Given the description of an element on the screen output the (x, y) to click on. 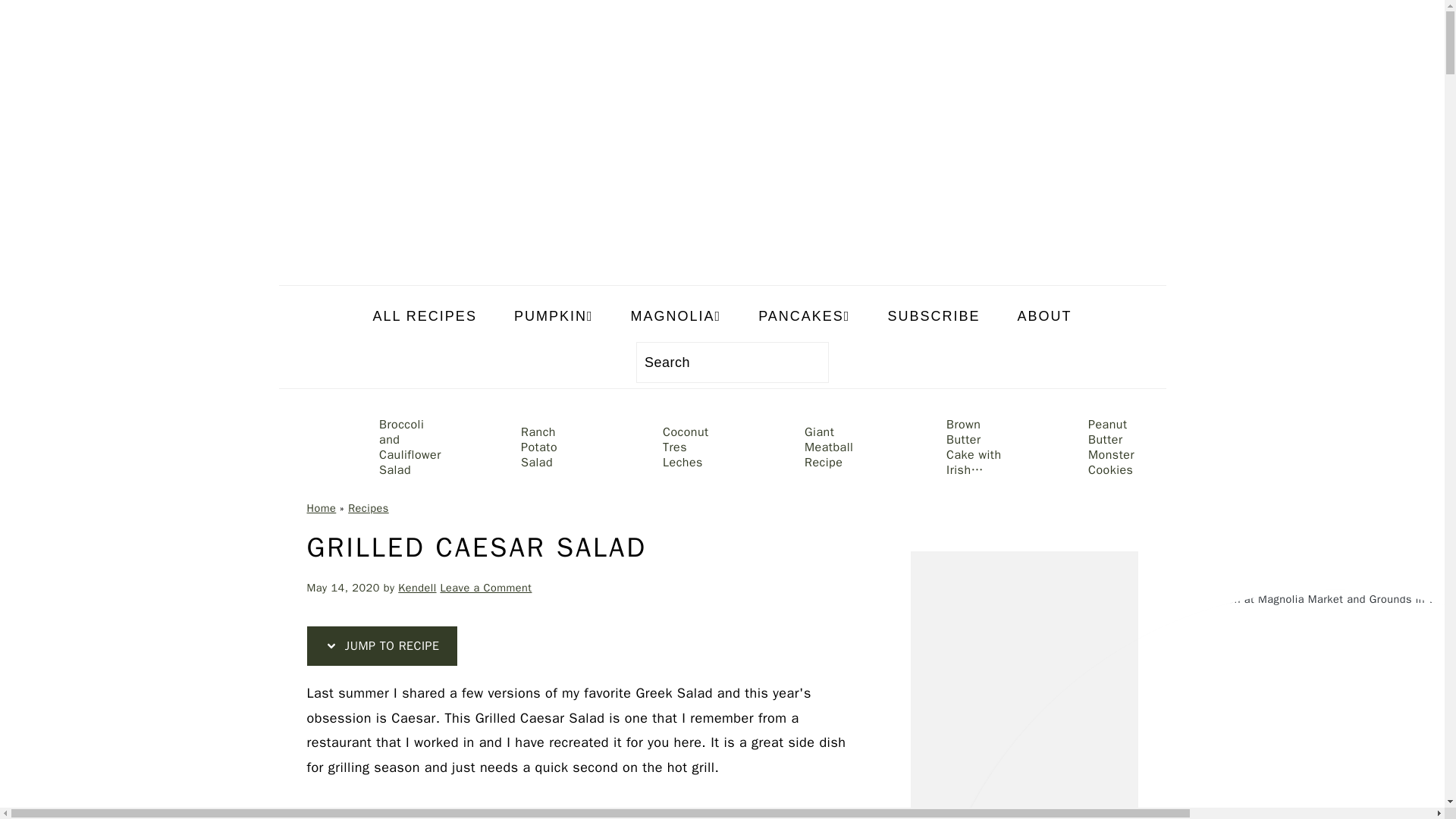
SUBSCRIBE (932, 316)
Ranch Potato Salad (516, 447)
ALL RECIPES (424, 316)
ABOUT (1044, 316)
KendellKreations (722, 272)
Coconut Tres Leches (657, 447)
Broccoli and Cauliflower Salad (373, 447)
